Given the description of an element on the screen output the (x, y) to click on. 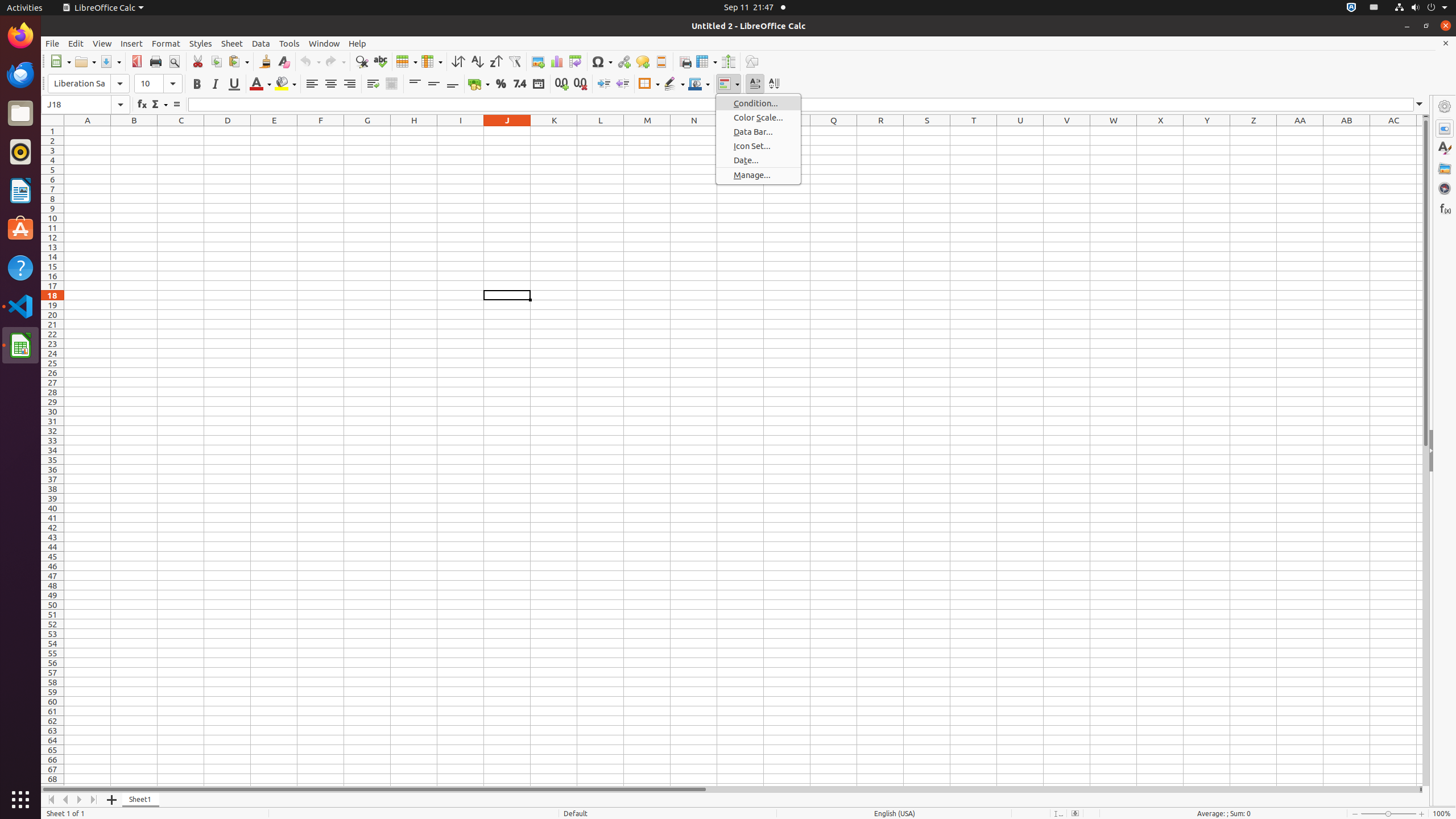
li.txt Element type: label (146, 50)
LibreOffice Calc Element type: menu (102, 7)
